Given the description of an element on the screen output the (x, y) to click on. 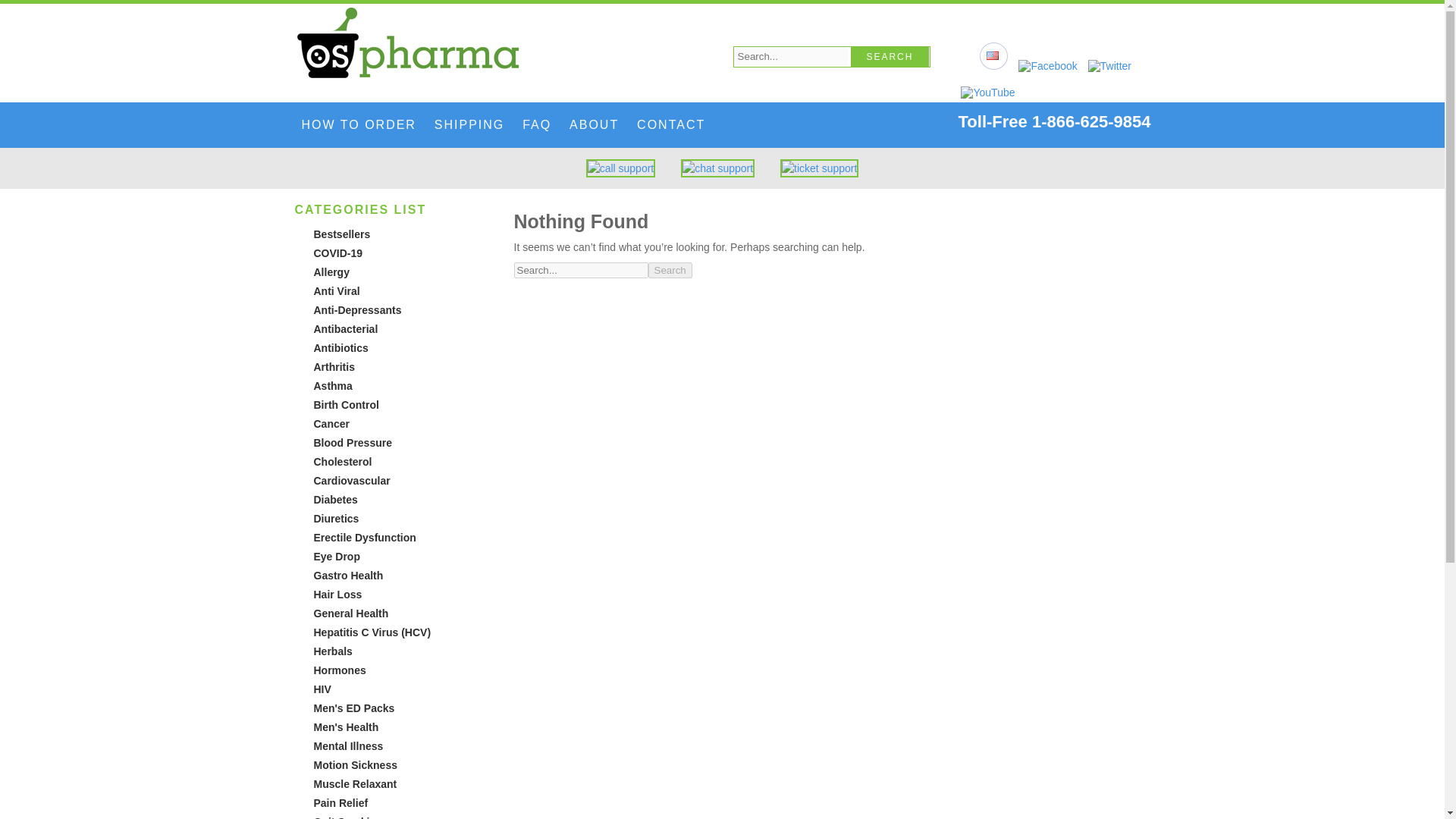
Cholesterol (343, 461)
Search (669, 270)
Birth Control (346, 404)
Antibacterial (346, 328)
Blood Pressure (352, 442)
Search (890, 56)
Anti-Depressants (357, 309)
SEARCH (890, 56)
Asthma (333, 386)
Allergy (331, 272)
